Given the description of an element on the screen output the (x, y) to click on. 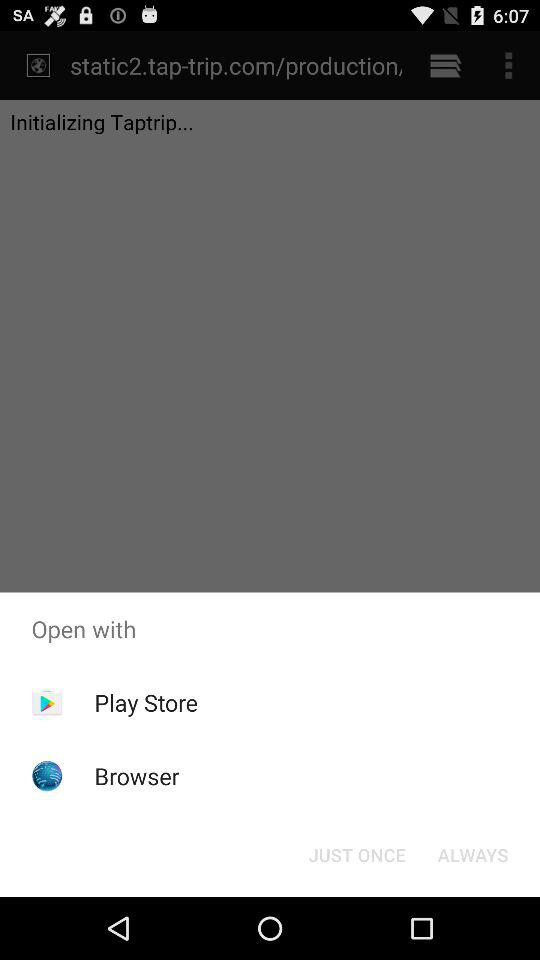
press always (472, 854)
